Given the description of an element on the screen output the (x, y) to click on. 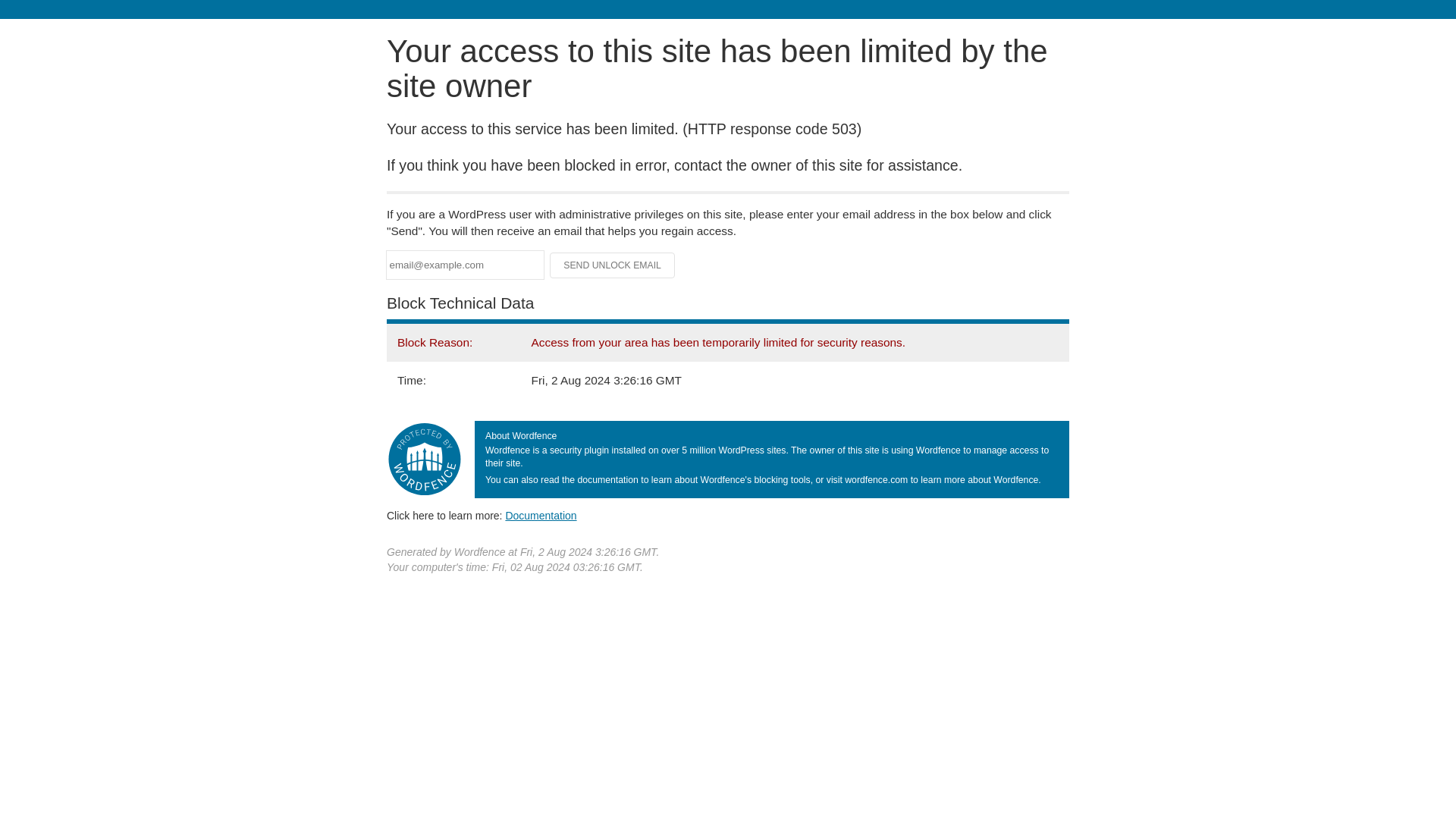
Send Unlock Email (612, 265)
Send Unlock Email (612, 265)
Documentation (540, 515)
